Given the description of an element on the screen output the (x, y) to click on. 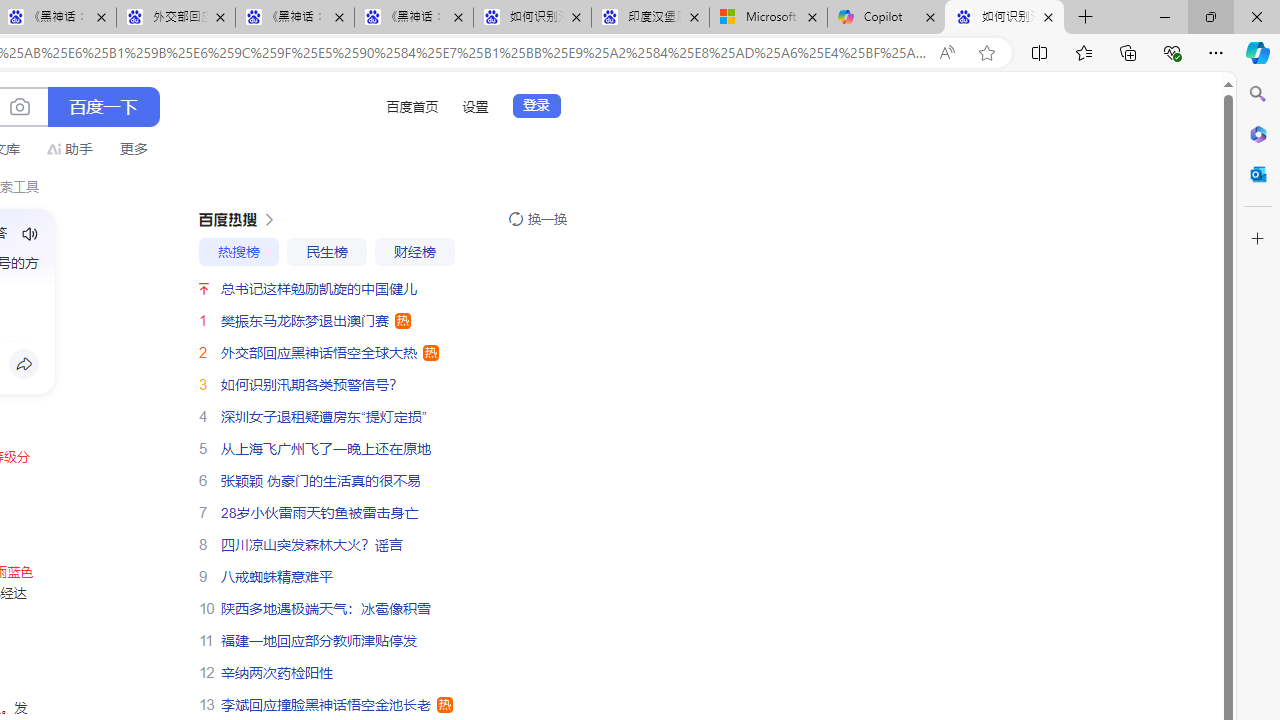
Microsoft 365 (1258, 133)
Close (1256, 16)
Read aloud this page (Ctrl+Shift+U) (946, 53)
Favorites (1083, 52)
Copilot (886, 17)
Add this page to favorites (Ctrl+D) (986, 53)
Class: sc-audio-svg _pause-icon_13ucw_87 (29, 233)
